Given the description of an element on the screen output the (x, y) to click on. 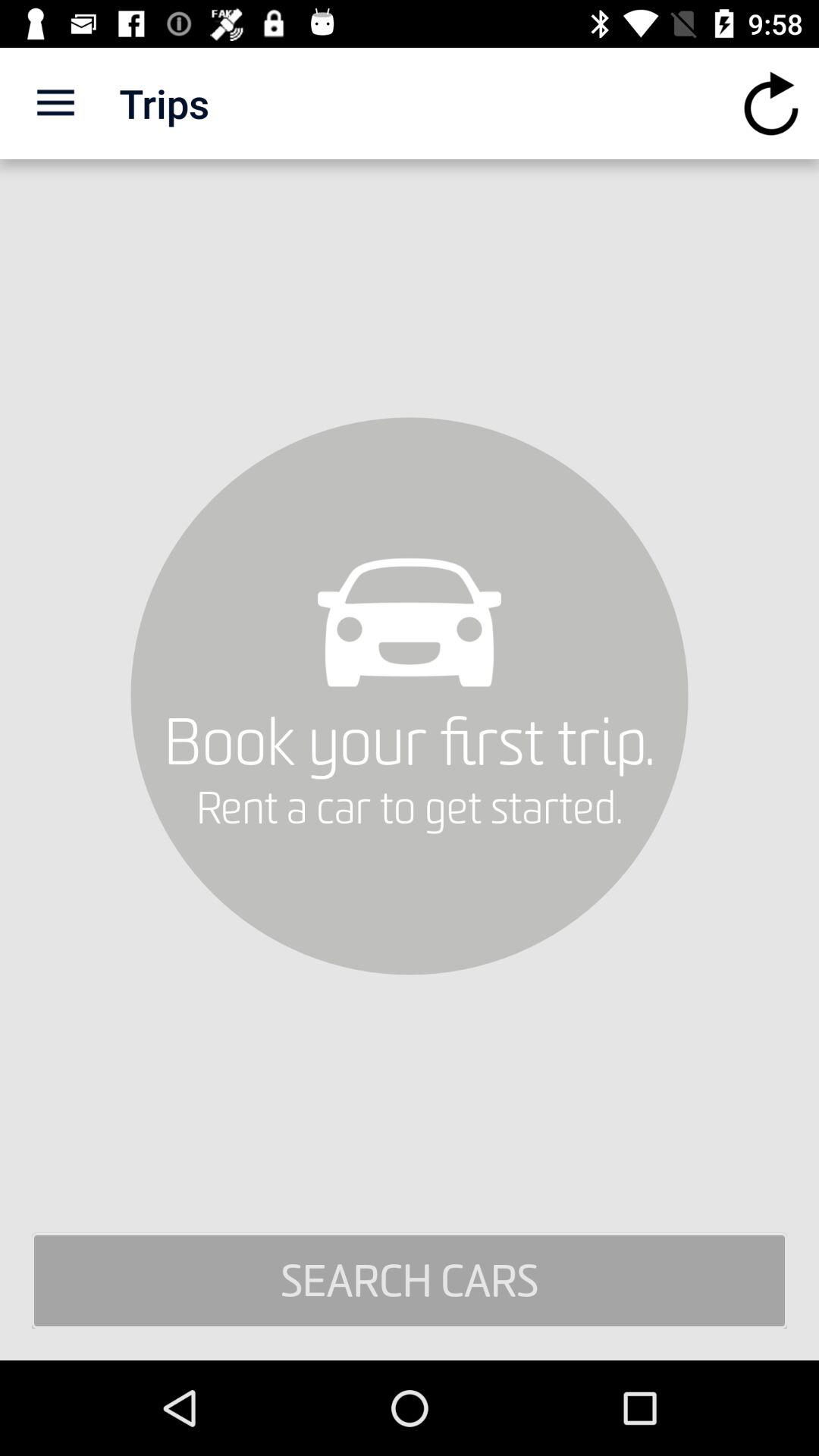
swipe until search cars item (409, 1280)
